Given the description of an element on the screen output the (x, y) to click on. 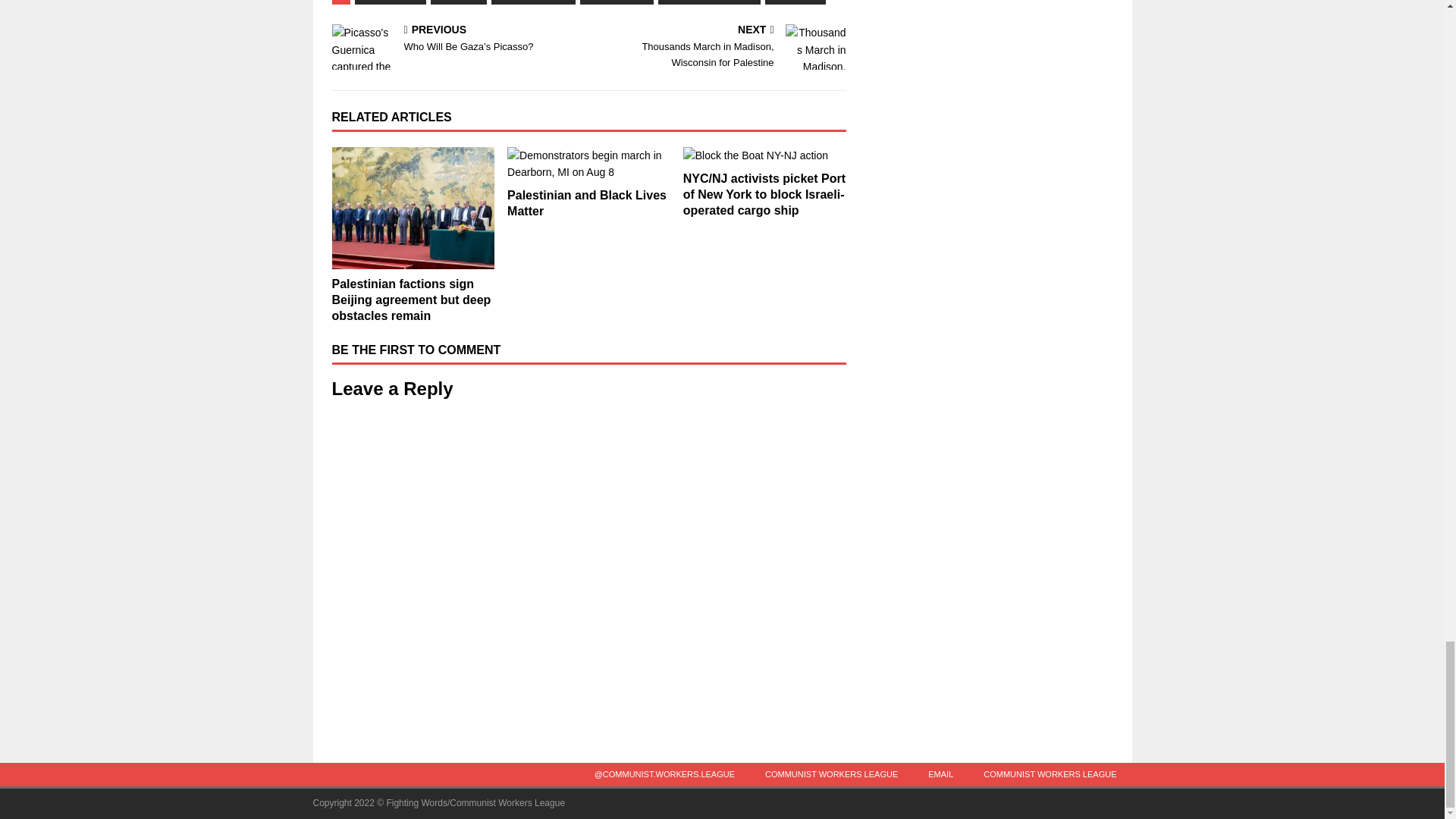
PALESTINE (615, 2)
U.S. IMPERIALISM (709, 2)
MIDDLE EAST (533, 2)
GENOCIDE (390, 2)
ISRAEL (458, 2)
